Given the description of an element on the screen output the (x, y) to click on. 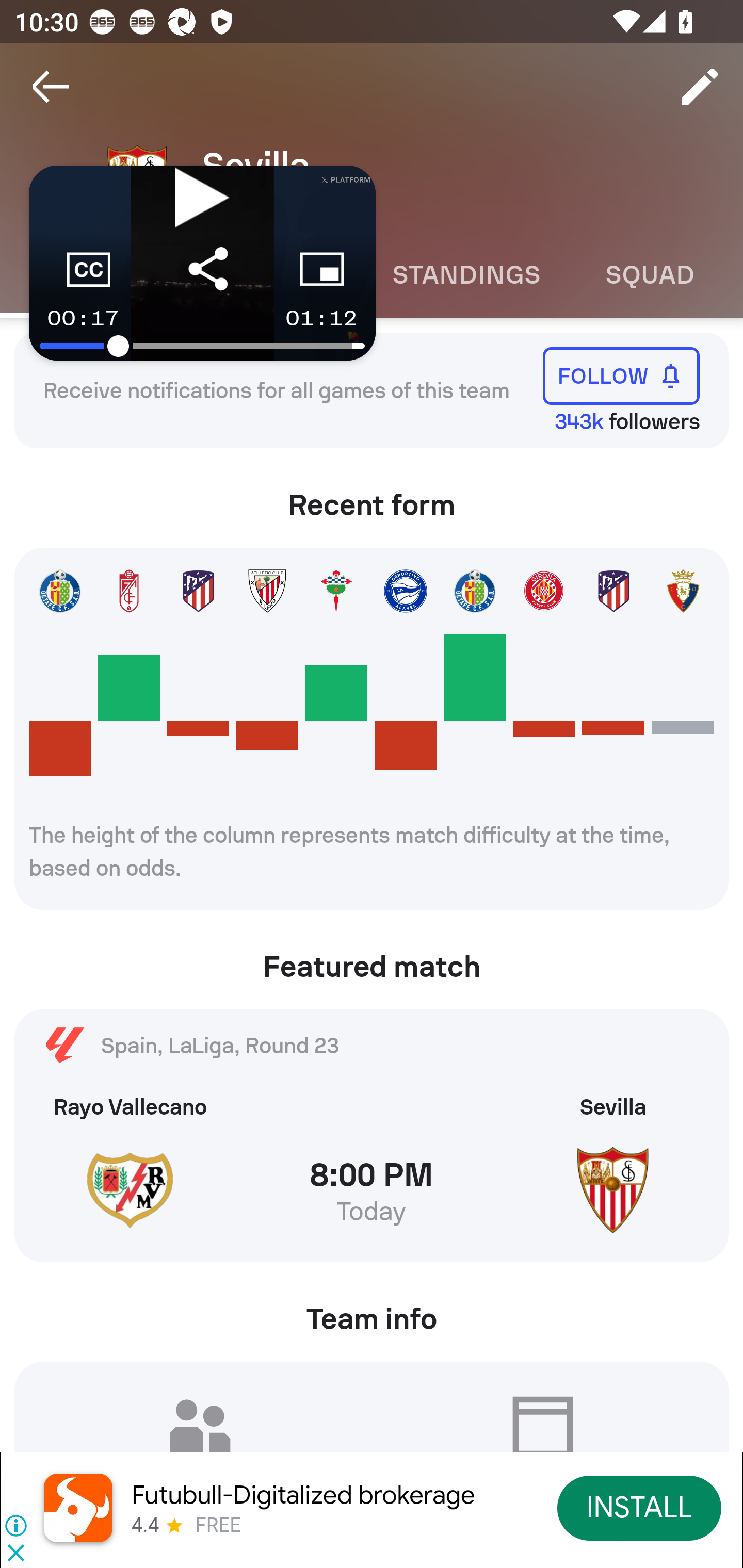
Navigate up (50, 86)
Edit (699, 86)
Standings STANDINGS (465, 275)
Squad SQUAD (650, 275)
FOLLOW (621, 375)
INSTALL (639, 1507)
Futubull-Digitalized brokerage (302, 1494)
